Given the description of an element on the screen output the (x, y) to click on. 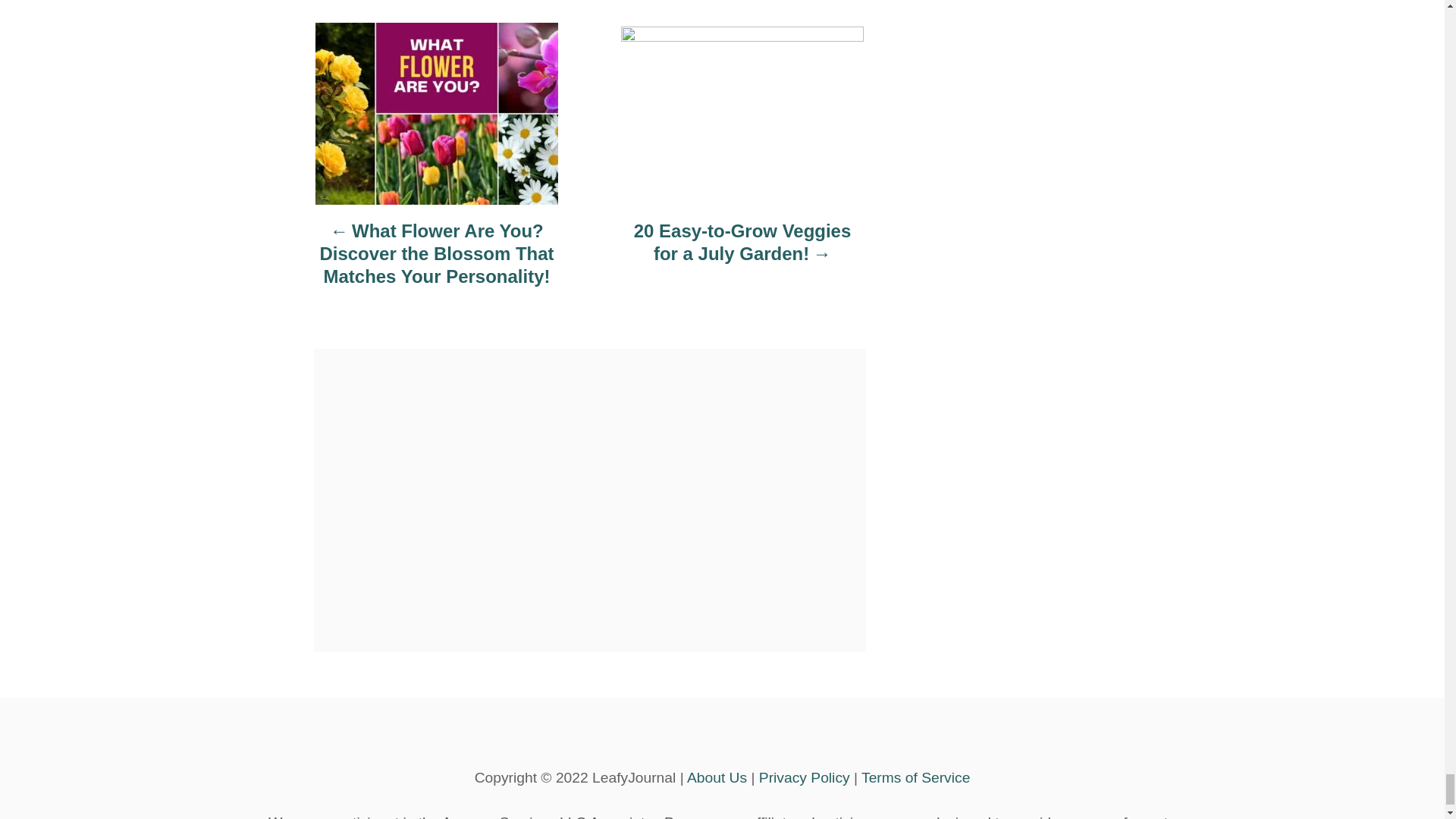
Privacy Policy (804, 777)
Terms of Service (915, 777)
20 Easy-to-Grow Veggies for a July Garden! (741, 250)
About Us (716, 777)
